Given the description of an element on the screen output the (x, y) to click on. 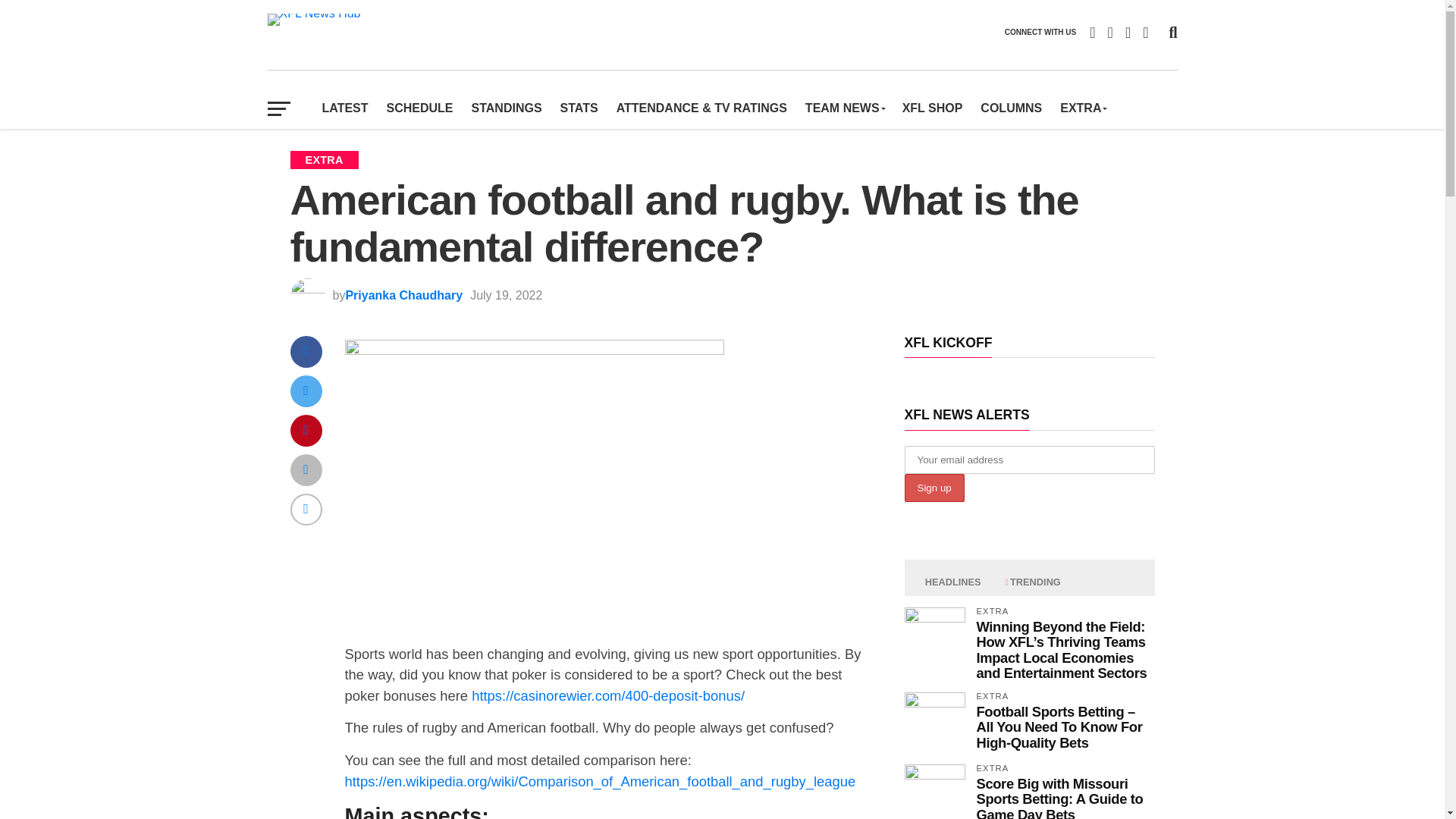
XFL SHOP (932, 108)
STANDINGS (507, 108)
Sign up (933, 488)
TEAM NEWS (844, 108)
Share on Facebook (305, 350)
Posts by Priyanka Chaudhary (404, 295)
LATEST (345, 108)
COLUMNS (1011, 108)
EXTRA (1083, 108)
Pin This Post (305, 429)
Tweet This Post (305, 390)
SCHEDULE (420, 108)
STATS (579, 108)
